Given the description of an element on the screen output the (x, y) to click on. 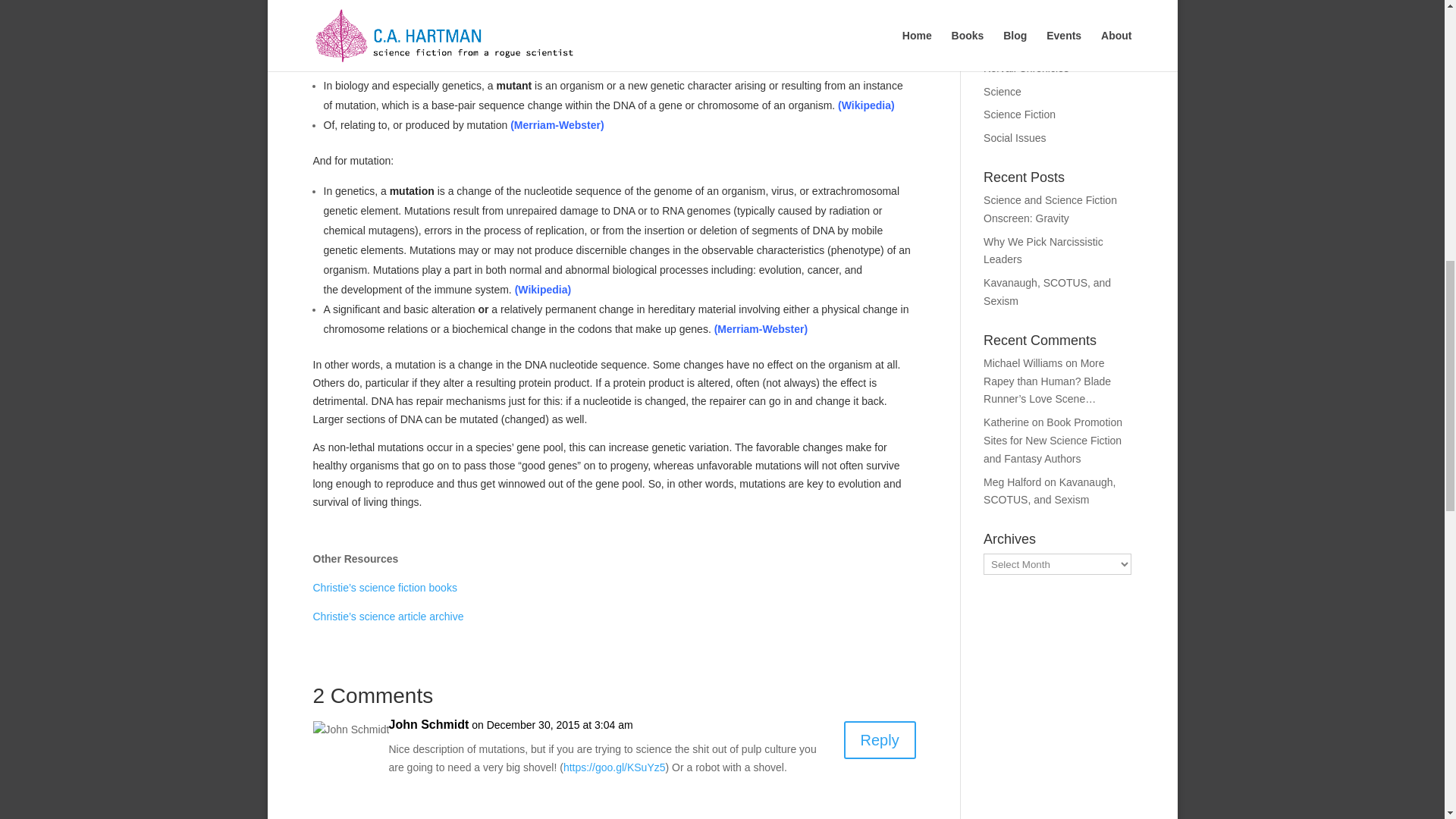
Christie (486, 818)
Reply (879, 740)
John Schmidt (428, 724)
